Given the description of an element on the screen output the (x, y) to click on. 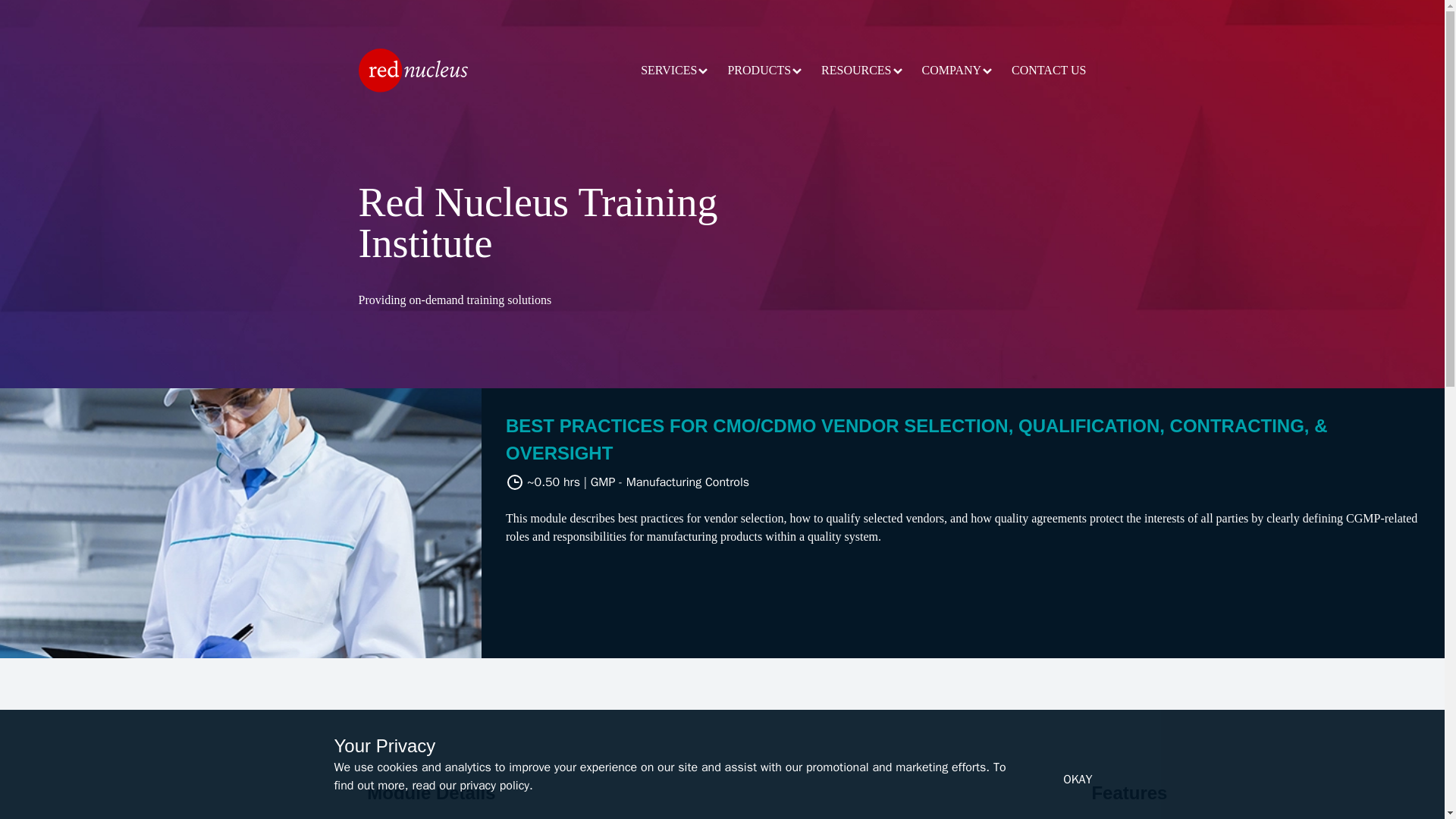
SERVICES (674, 70)
PRODUCTS (764, 70)
OKAY (1077, 779)
